Given the description of an element on the screen output the (x, y) to click on. 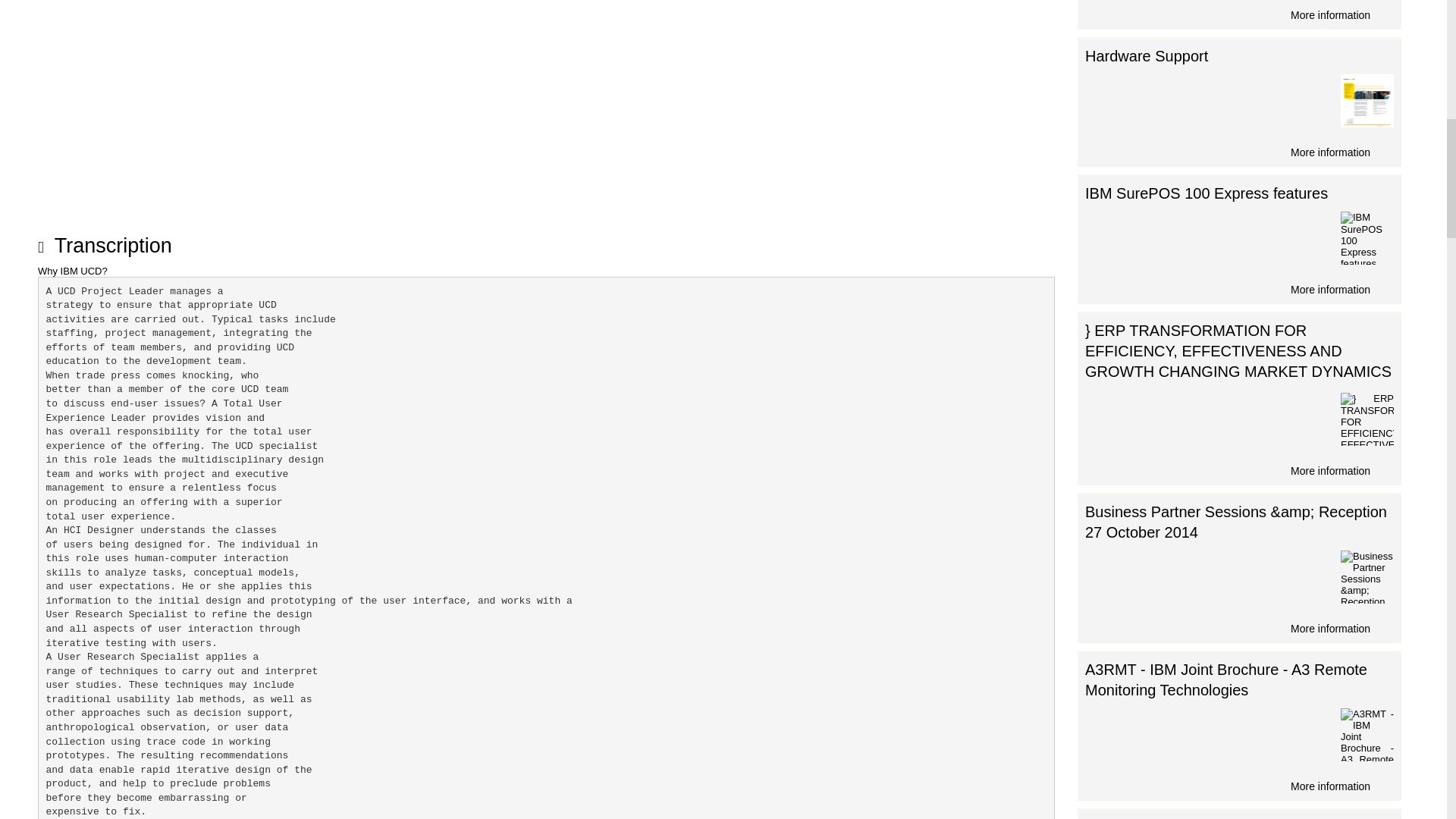
More information (1238, 13)
Hardware Support (1146, 55)
More information (1238, 784)
IBM SurePOS 100 Express features (1366, 237)
More information (1238, 150)
More information (1238, 469)
More information (1238, 288)
IBM SurePOS 100 Express features (1205, 193)
